Given the description of an element on the screen output the (x, y) to click on. 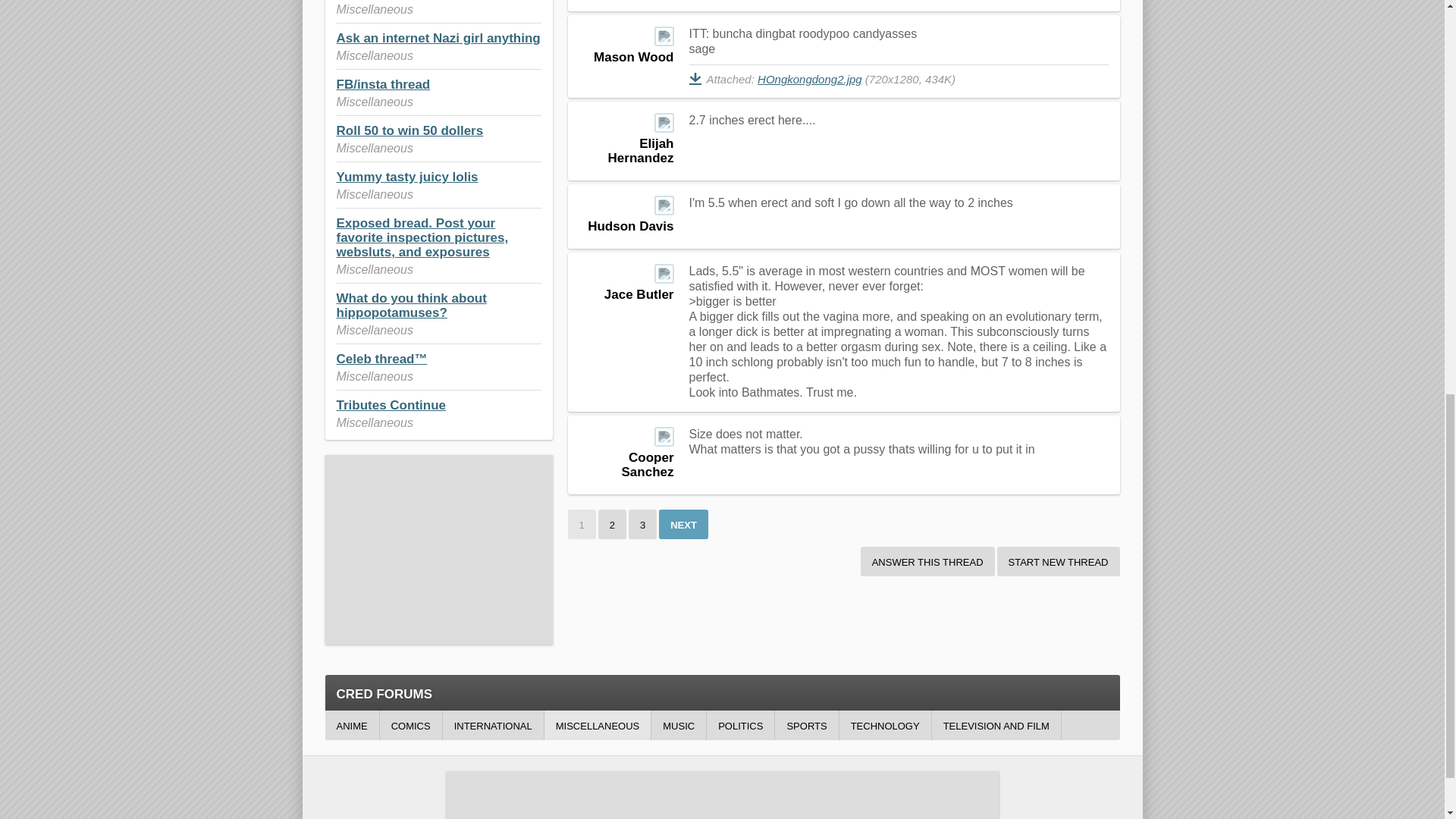
Yummy tasty juicy lolis (407, 176)
Roll 50 to win 50 dollers (409, 130)
HOngkongdong2.jpg (809, 78)
What do you think about hippopotamuses? (411, 305)
ANSWER THIS THREAD (927, 561)
START NEW THREAD (1058, 561)
NEXT (683, 523)
Ask an internet Nazi girl anything (438, 38)
3 (642, 523)
